Given the description of an element on the screen output the (x, y) to click on. 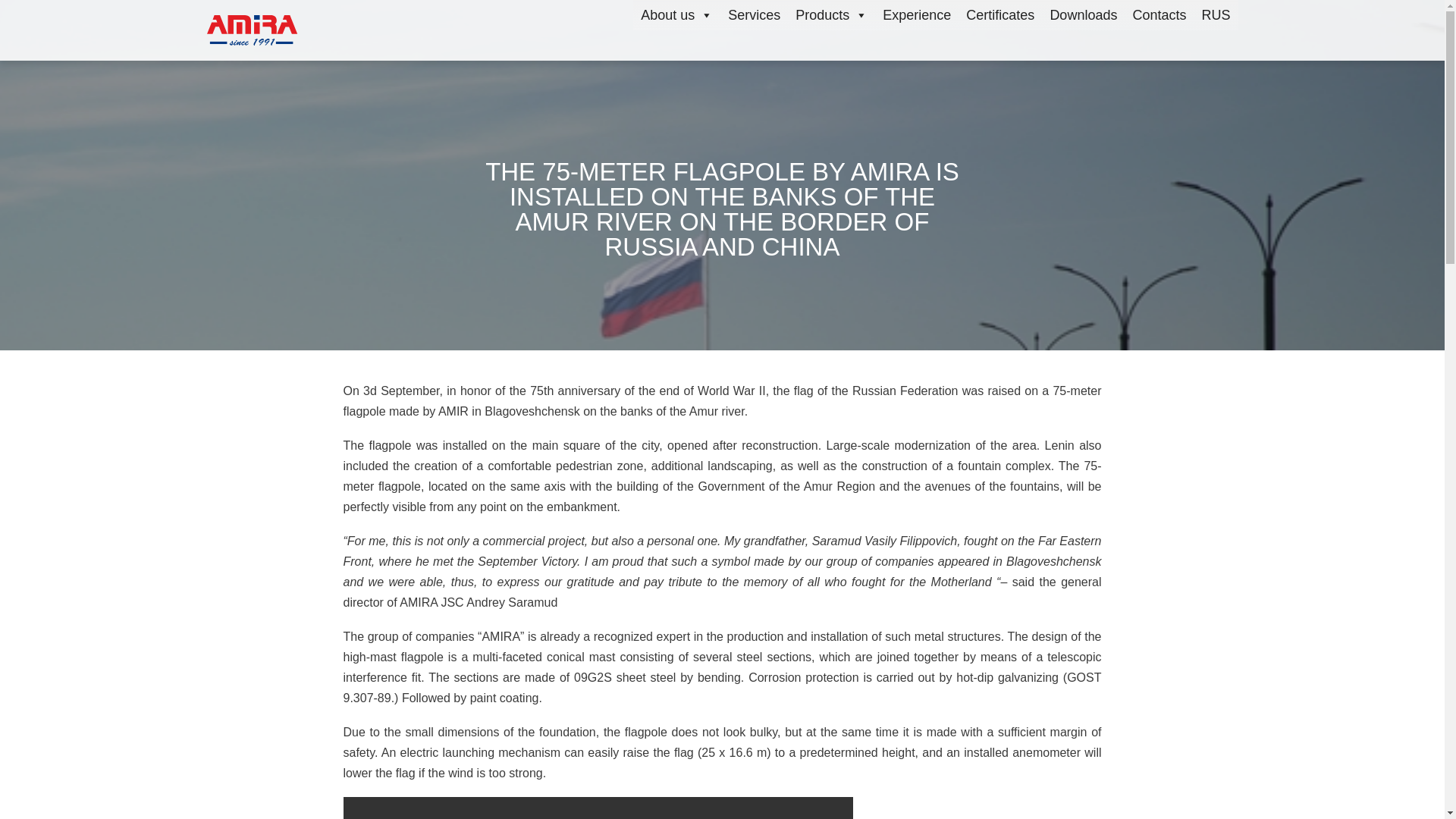
Experience (916, 15)
Contacts (1158, 15)
Downloads (1083, 15)
About us (676, 15)
Certificates (1000, 15)
Products (831, 15)
Services (753, 15)
Amira Group (251, 30)
RUS (1215, 15)
